Given the description of an element on the screen output the (x, y) to click on. 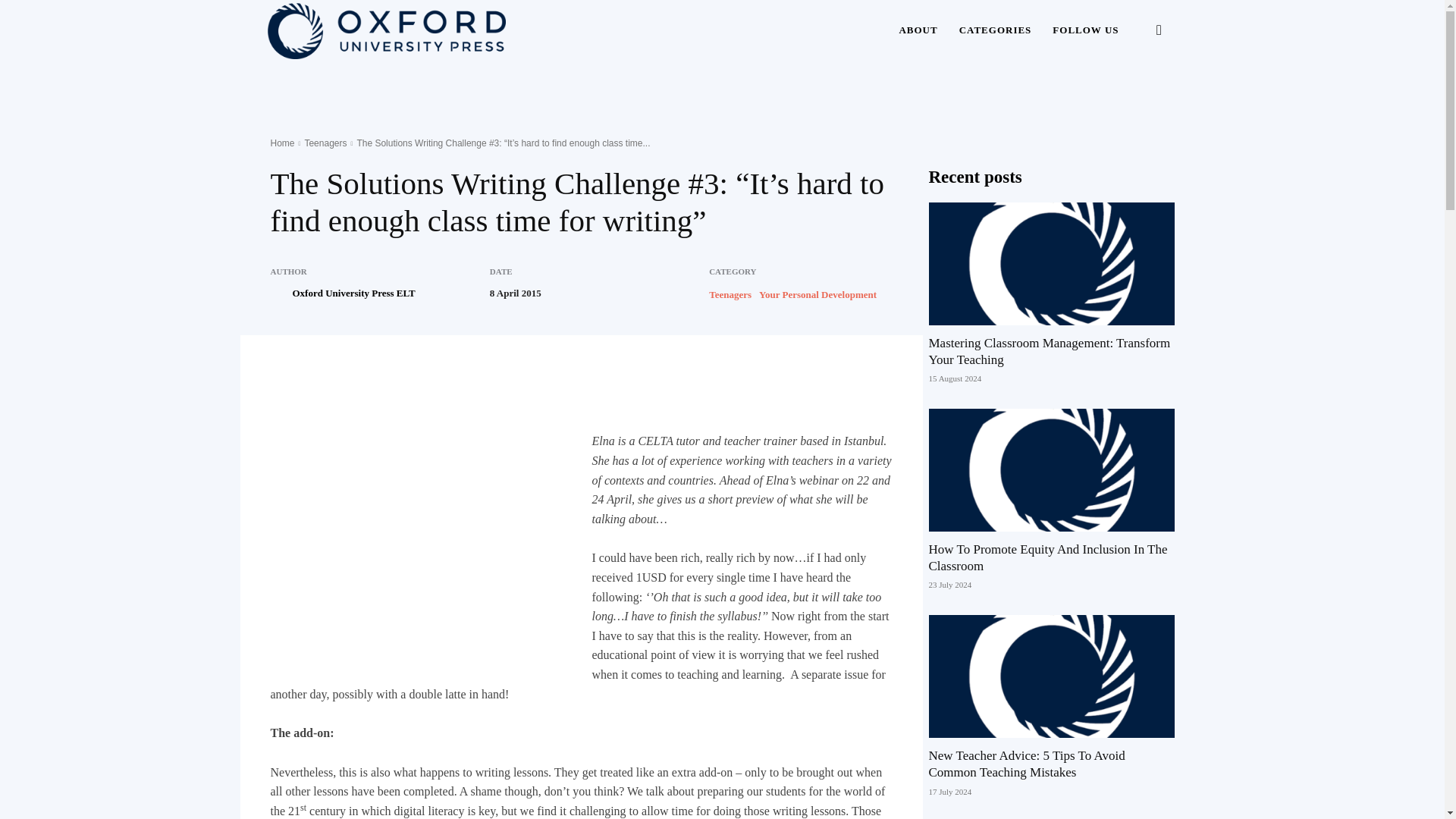
CATEGORIES (995, 30)
FOLLOW US (1085, 30)
Home (281, 143)
Teaching English with Oxford (385, 30)
Search (1134, 102)
Oxford University Press ELT (279, 293)
Oxford University Press ELT (353, 292)
Teenagers (325, 143)
Teenagers (730, 294)
View all posts in Teenagers (325, 143)
